Given the description of an element on the screen output the (x, y) to click on. 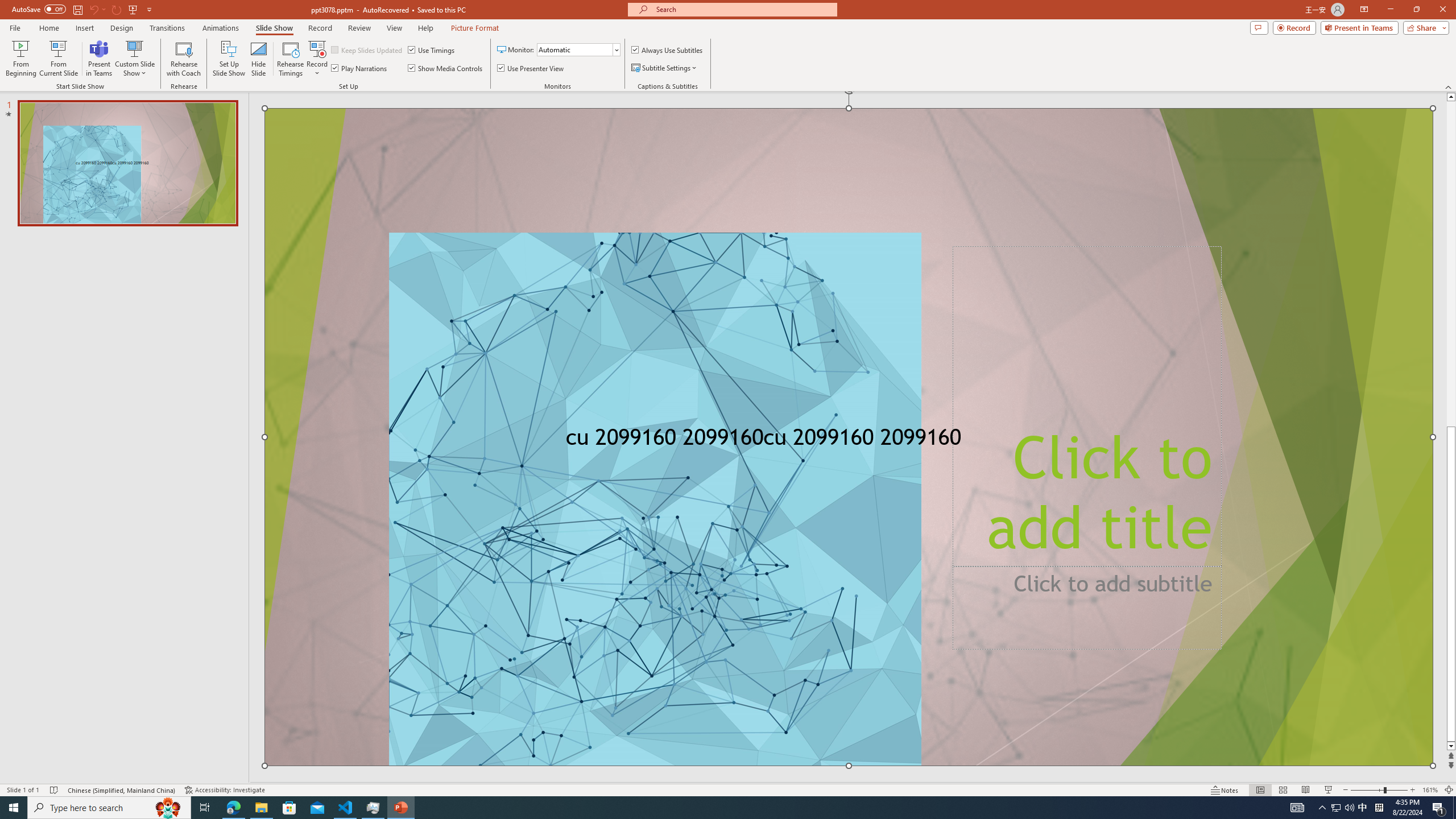
Monitor (578, 49)
Show Media Controls (446, 67)
Always Use Subtitles (667, 49)
Play Narrations (359, 67)
From Current Slide (58, 58)
